Given the description of an element on the screen output the (x, y) to click on. 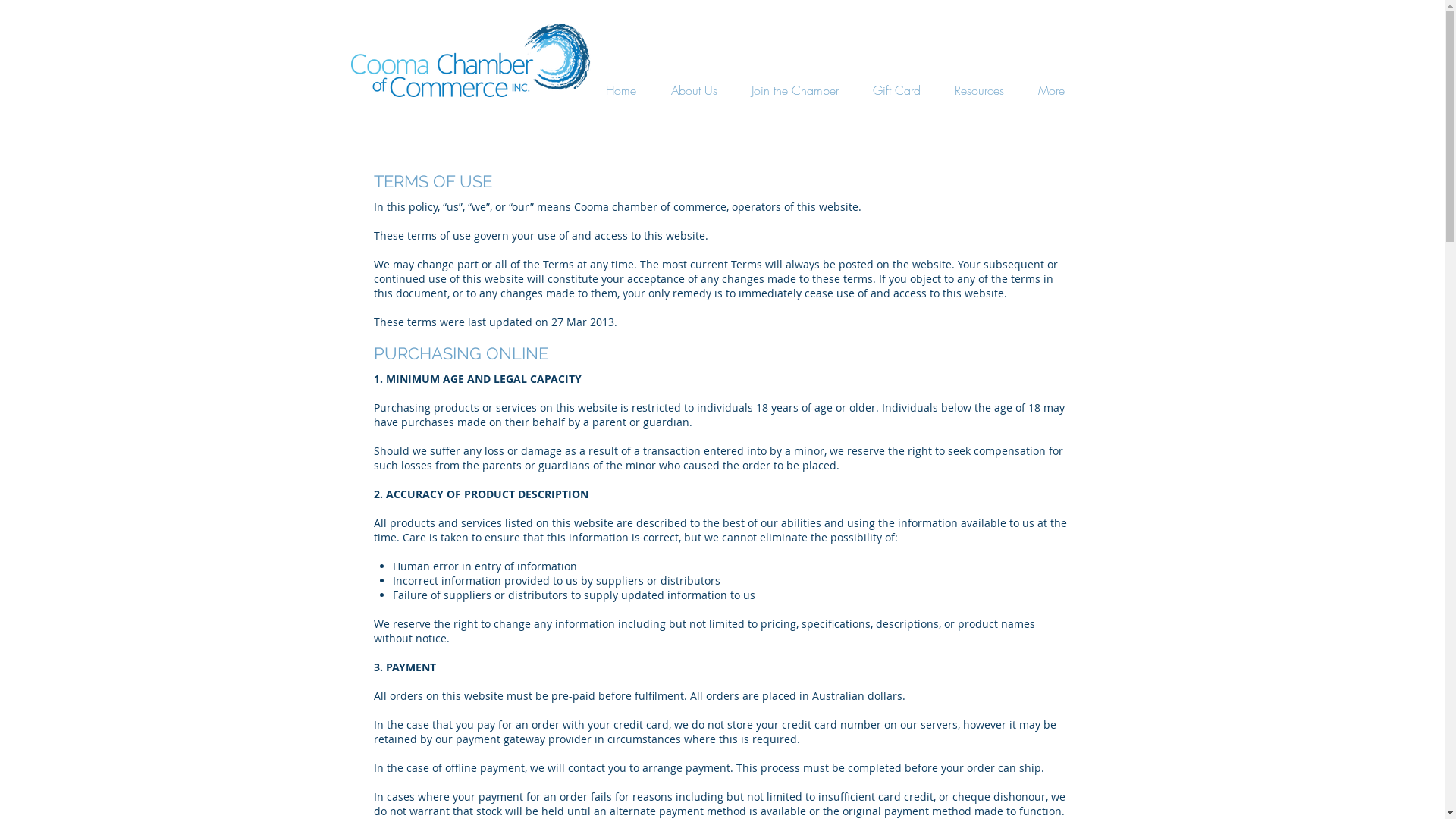
Join the Chamber Element type: text (794, 90)
Gift Card Element type: text (896, 90)
Resources Element type: text (978, 90)
Home Element type: text (620, 90)
About Us Element type: text (693, 90)
